Given the description of an element on the screen output the (x, y) to click on. 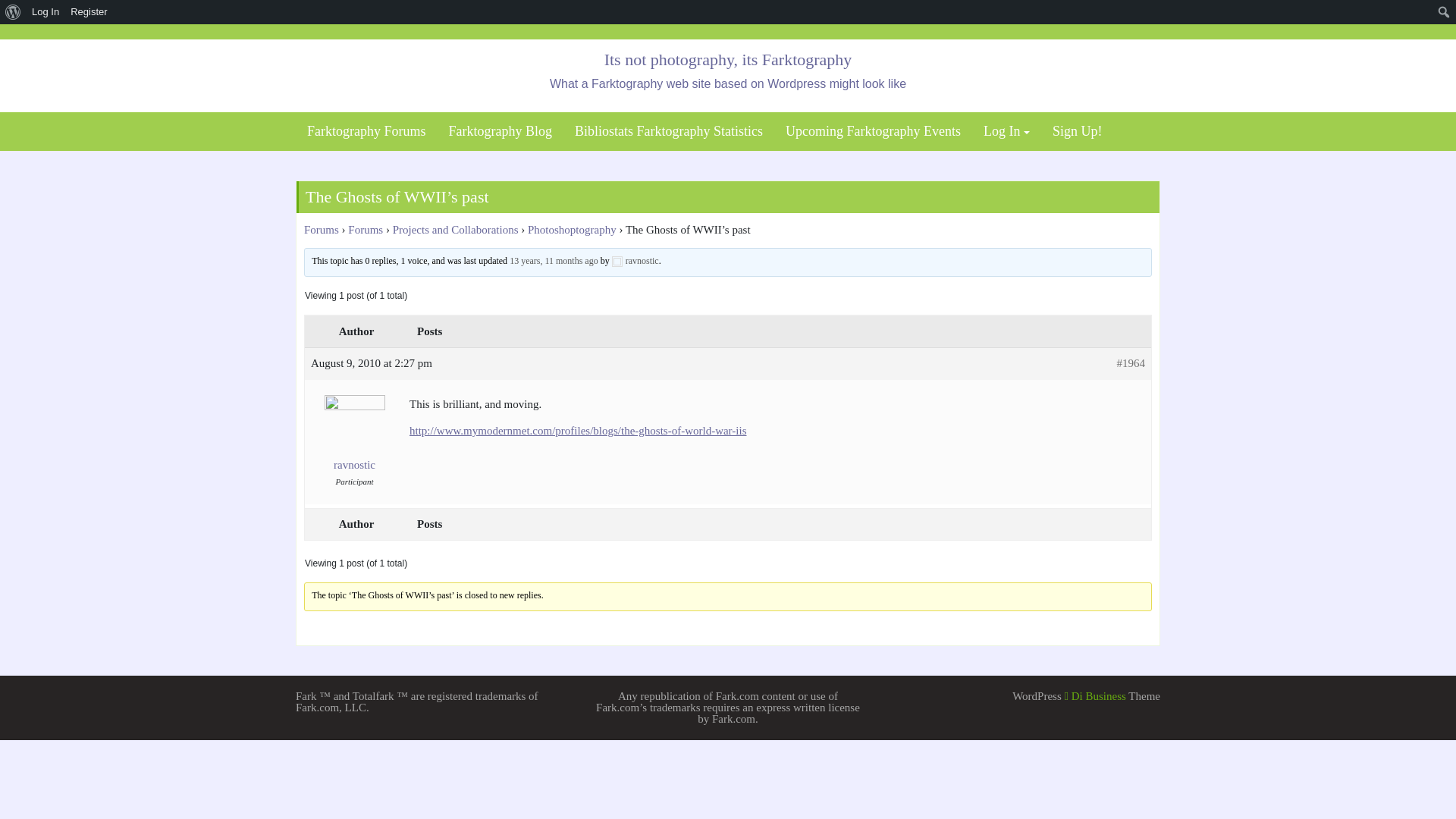
Forums (364, 229)
Bibliostats Farktography Statistics (668, 131)
ravnostic (354, 444)
View ravnostic's profile (635, 260)
Farktography Blog (499, 131)
Log In (45, 12)
Forums (321, 229)
View ravnostic's profile (354, 444)
Farktography Forums (366, 131)
Upcoming Farktography Events (873, 131)
Log In (1006, 131)
Register (89, 12)
ravnostic (635, 260)
Search (16, 13)
